Given the description of an element on the screen output the (x, y) to click on. 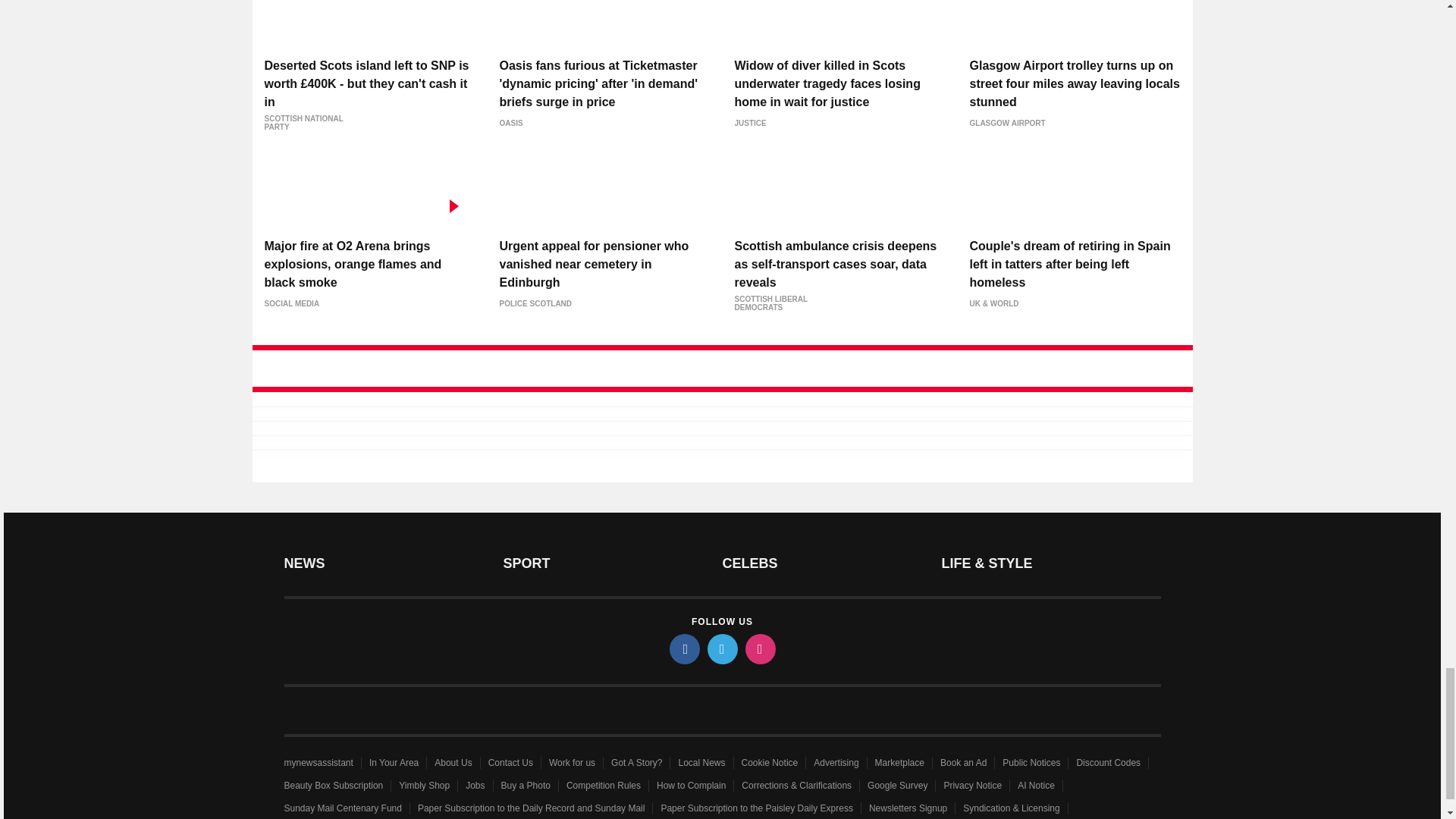
facebook (683, 648)
instagram (759, 648)
twitter (721, 648)
